Given the description of an element on the screen output the (x, y) to click on. 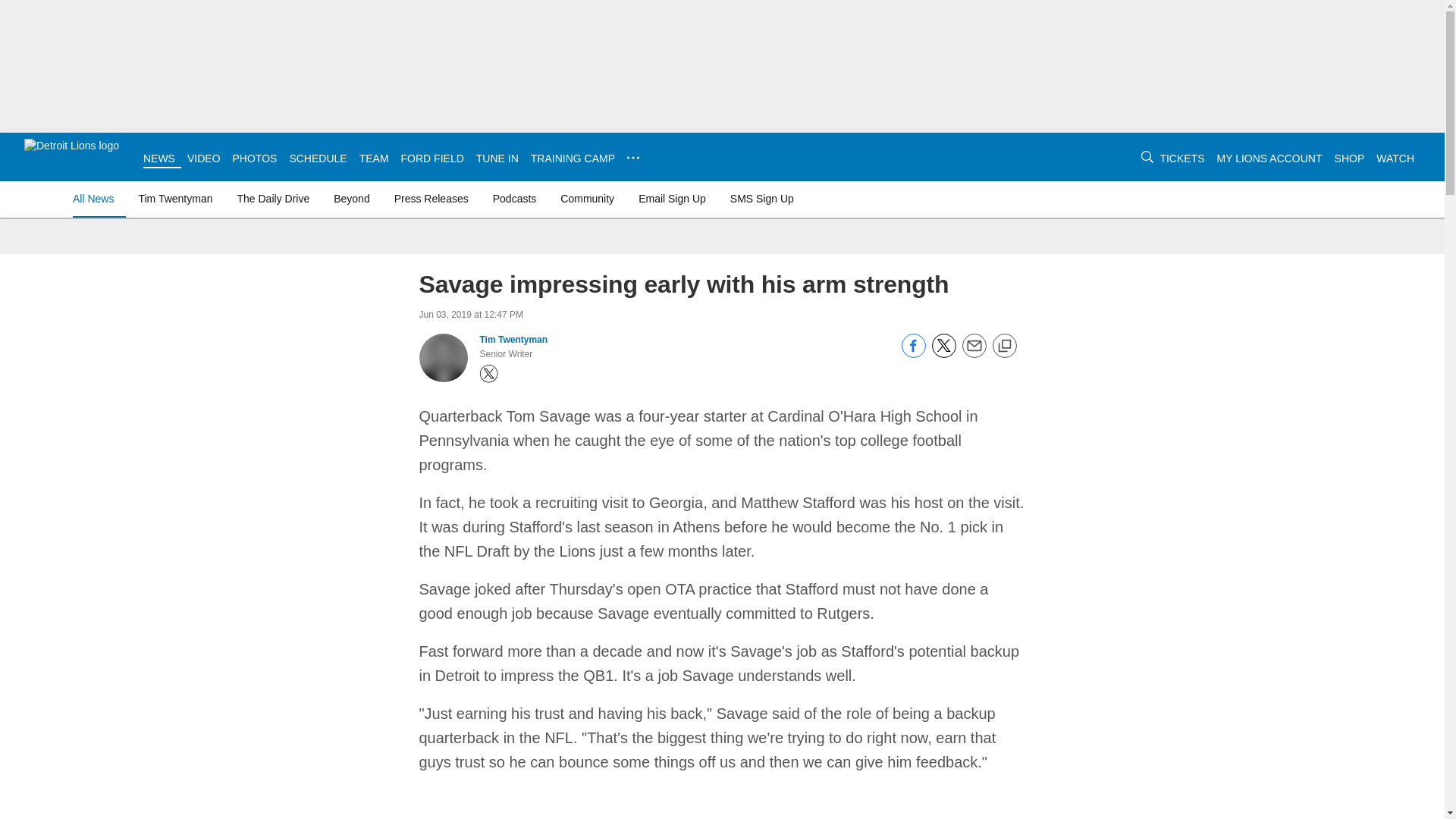
Press Releases (431, 198)
WATCH (1394, 158)
Community (587, 198)
... (633, 157)
The Daily Drive (272, 198)
SHOP (1350, 158)
PHOTOS (255, 158)
TRAINING CAMP (572, 158)
Beyond (351, 198)
TICKETS (1181, 158)
